Given the description of an element on the screen output the (x, y) to click on. 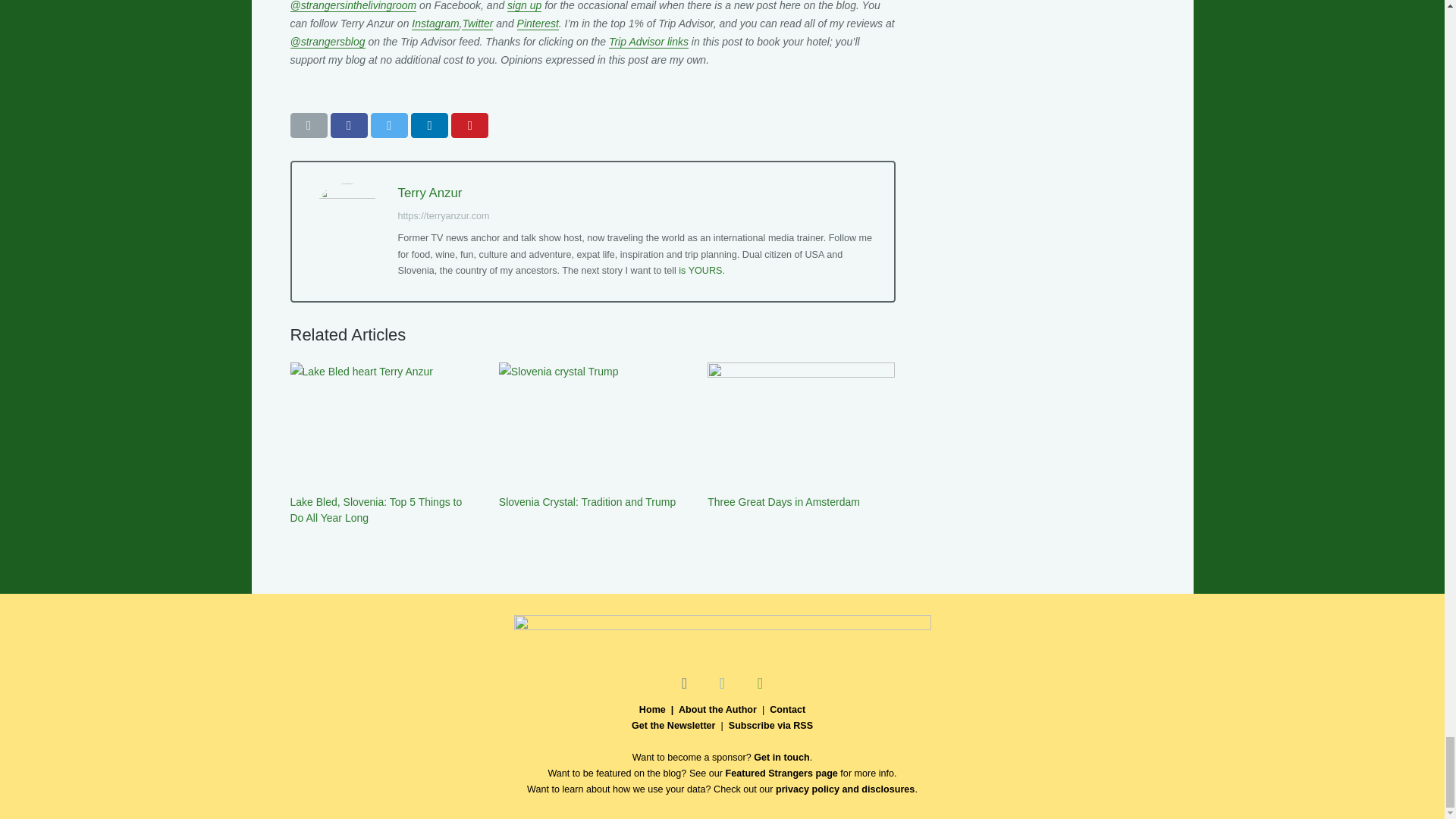
Share this (429, 125)
Tweet this (389, 125)
Pin this (469, 125)
Email this (307, 125)
Share this (349, 125)
